Given the description of an element on the screen output the (x, y) to click on. 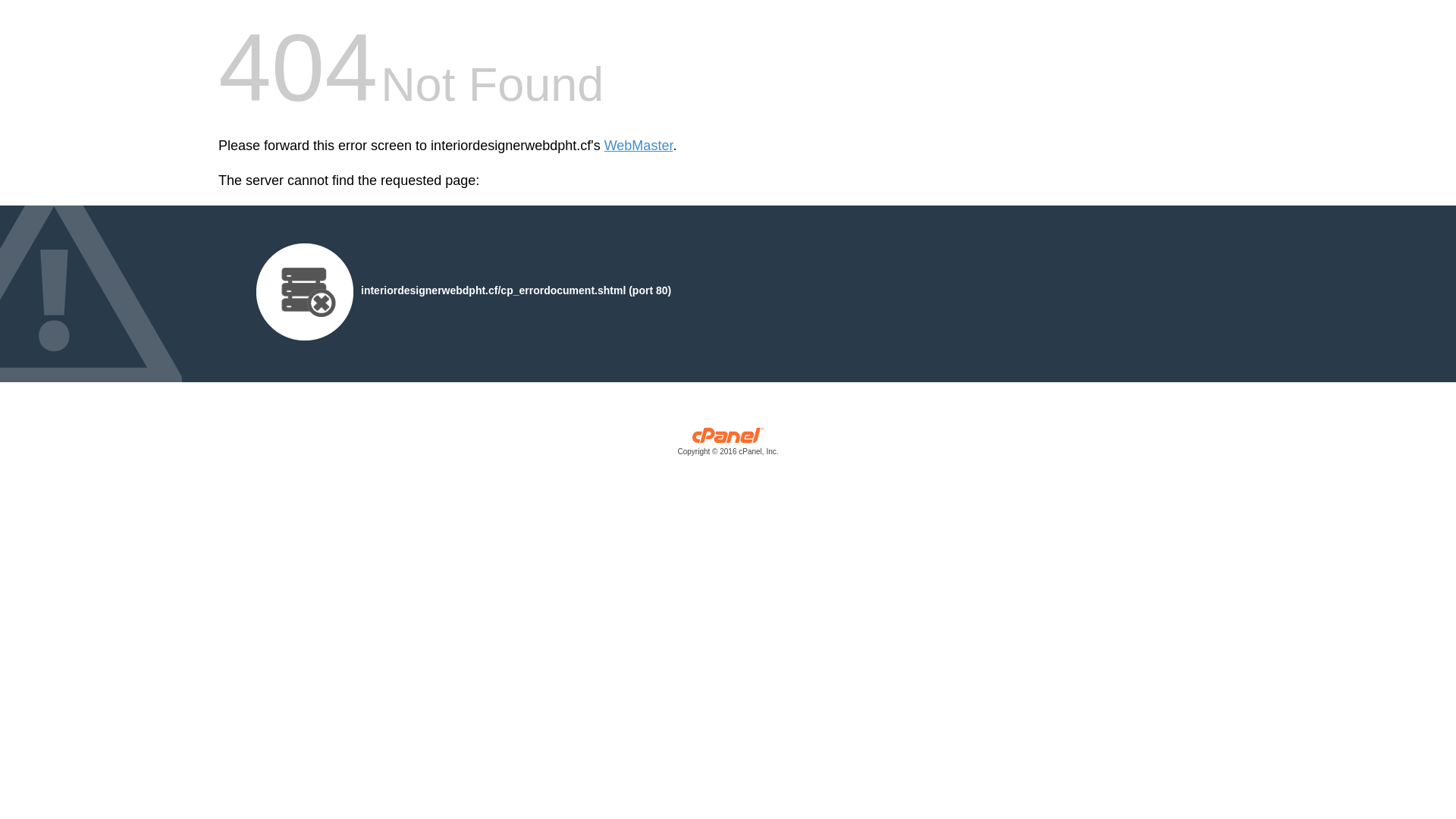
WebMaster Element type: text (638, 145)
